Given the description of an element on the screen output the (x, y) to click on. 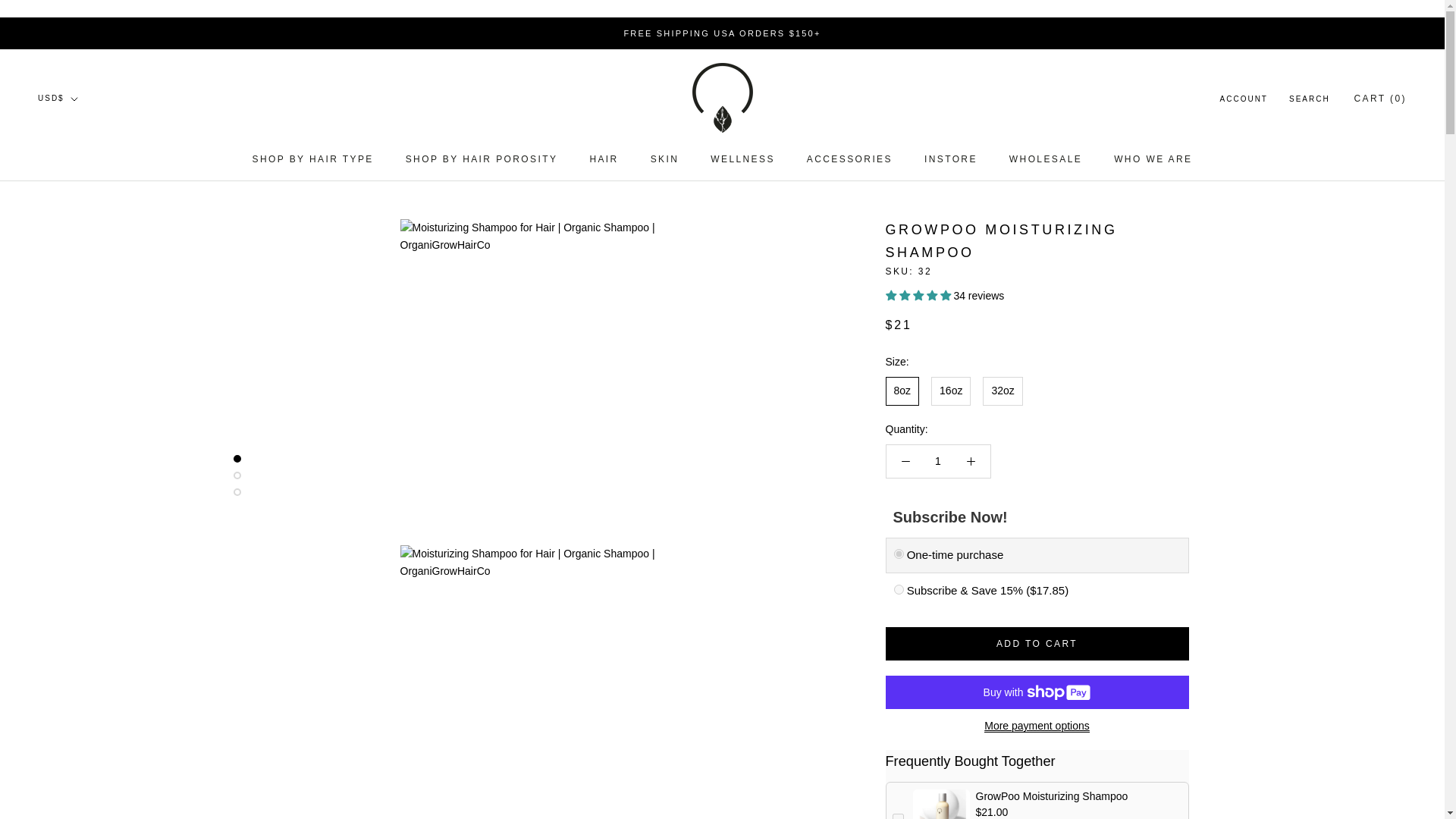
0 (897, 553)
1 (938, 460)
2 (897, 589)
on (896, 816)
